Given the description of an element on the screen output the (x, y) to click on. 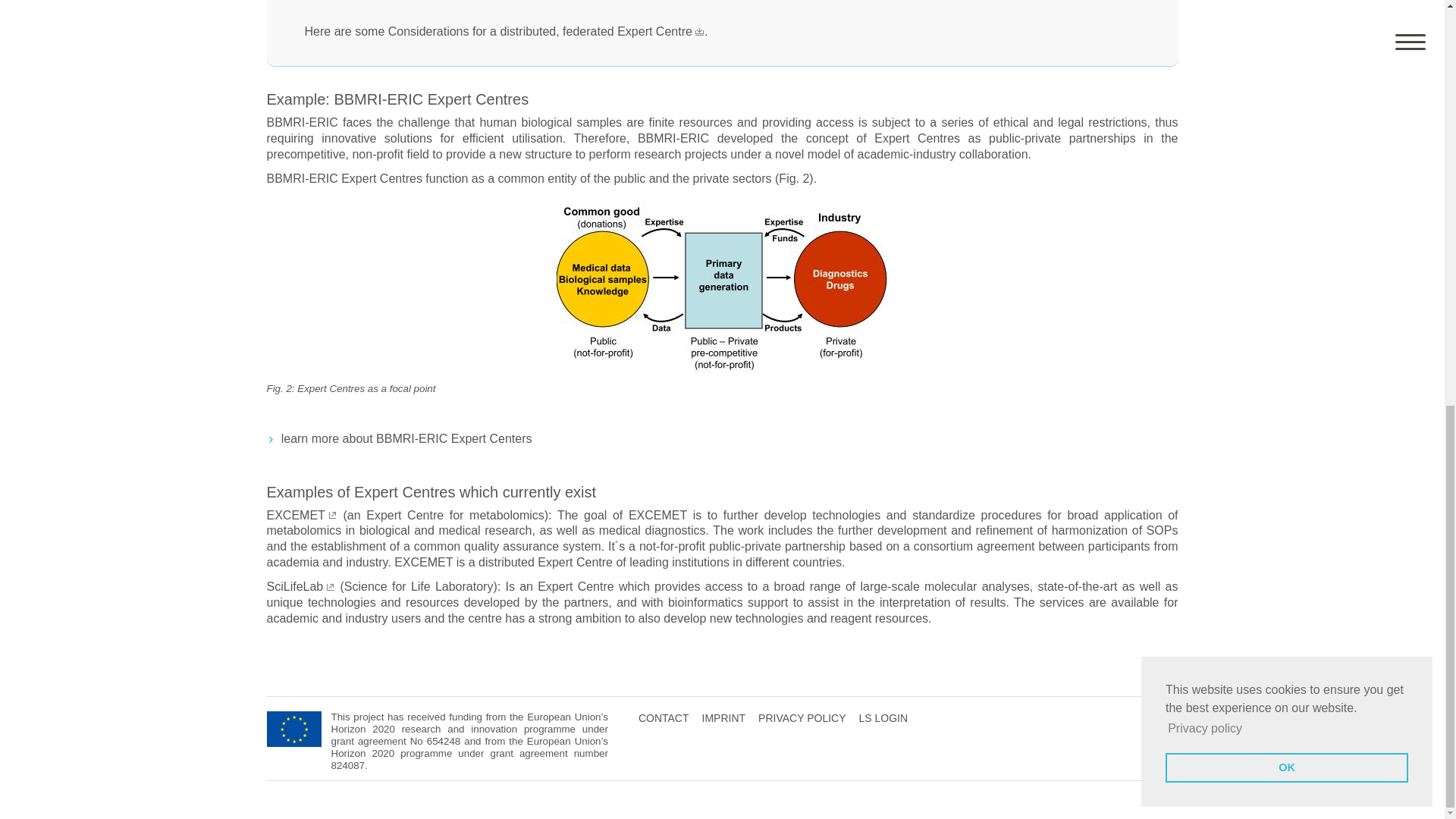
PRIVACY POLICY (801, 718)
LS LOGIN (883, 718)
Opens external link in new window (301, 585)
IMPRINT (723, 718)
Considerations for a distributed, federated Expert Centre (546, 31)
Opens external link in new window (301, 514)
CONTACT (663, 718)
EXCEMET (301, 514)
Opens internal link in current window (546, 31)
SciLifeLab (301, 585)
